Given the description of an element on the screen output the (x, y) to click on. 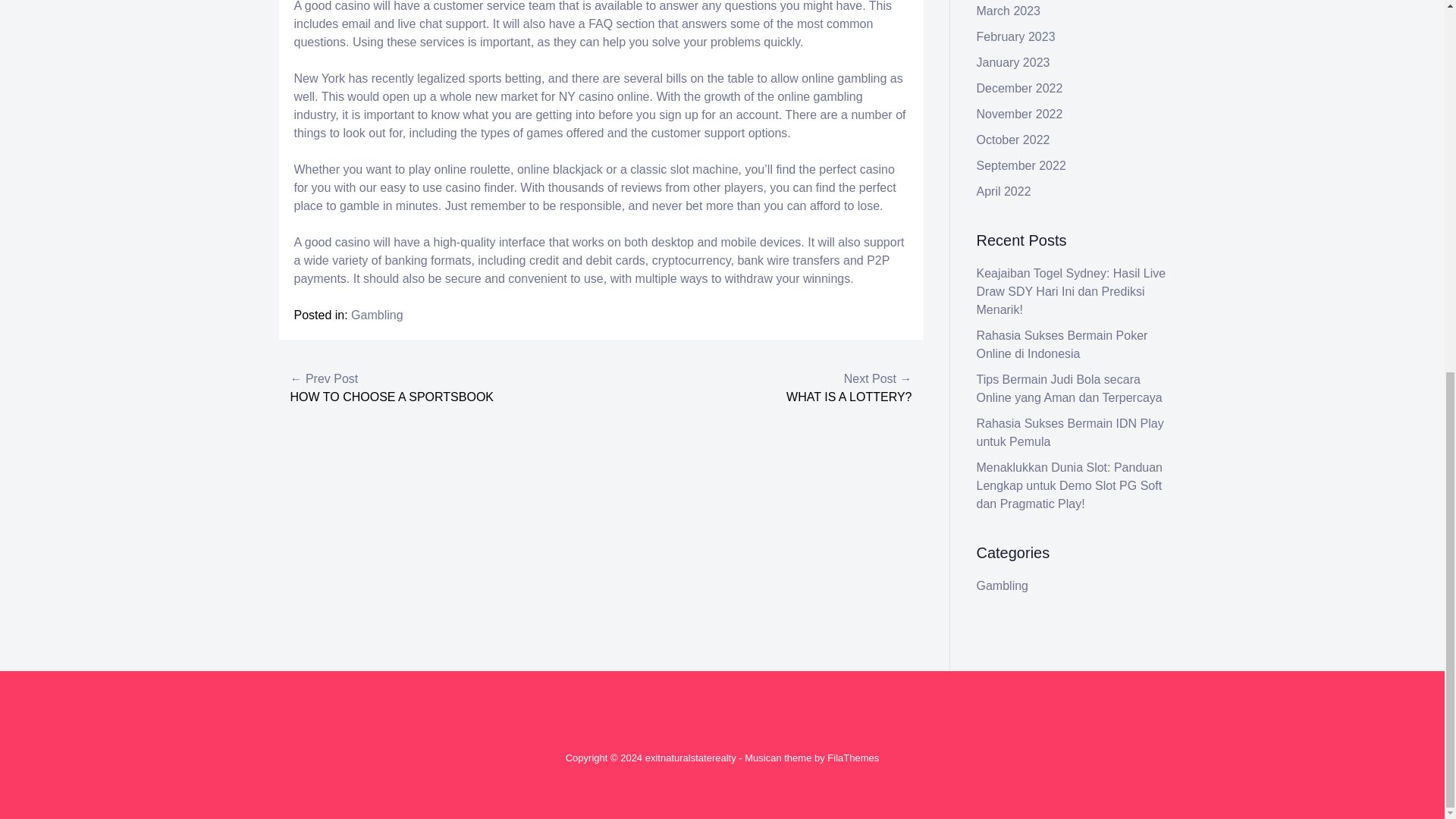
November 2022 (1019, 113)
Gambling (376, 314)
Rahasia Sukses Bermain Poker Online di Indonesia (1062, 344)
Rahasia Sukses Bermain IDN Play untuk Pemula (1069, 431)
April 2022 (1003, 191)
February 2023 (1015, 36)
March 2023 (1008, 10)
